Given the description of an element on the screen output the (x, y) to click on. 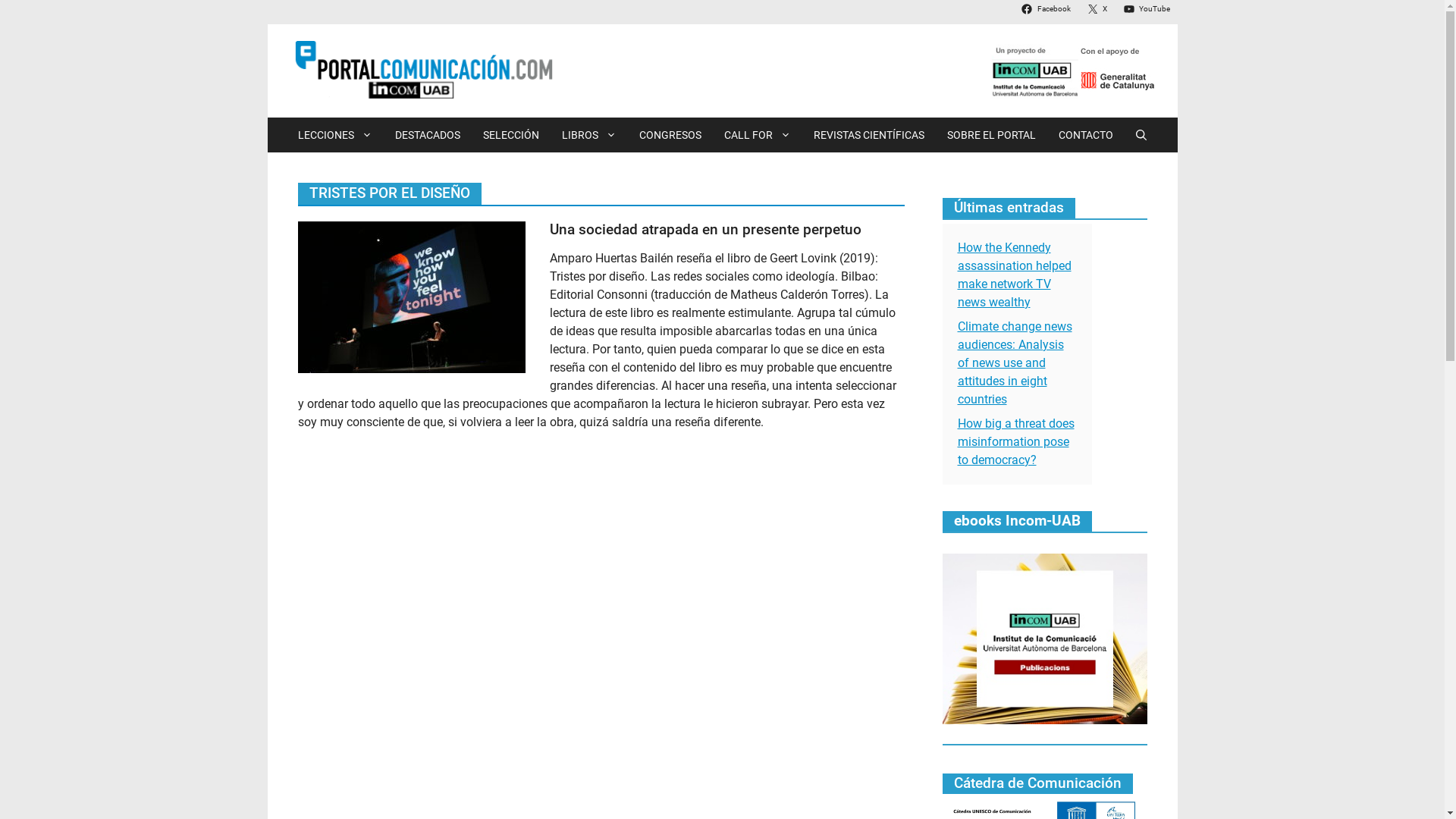
YouTube Element type: text (1148, 9)
X Element type: text (1098, 9)
Una sociedad atrapada en un presente perpetuo Element type: text (704, 229)
CALL FOR Element type: text (757, 134)
ebooks_NOU Element type: hover (1043, 638)
LECCIONES Element type: text (334, 134)
SOBRE EL PORTAL Element type: text (991, 134)
How big a threat does misinformation pose to democracy? Element type: text (1015, 441)
LIBROS Element type: text (588, 134)
CONGRESOS Element type: text (669, 134)
DESTACADOS Element type: text (427, 134)
CONTACTO Element type: text (1085, 134)
Facebook Element type: text (1046, 9)
